Given the description of an element on the screen output the (x, y) to click on. 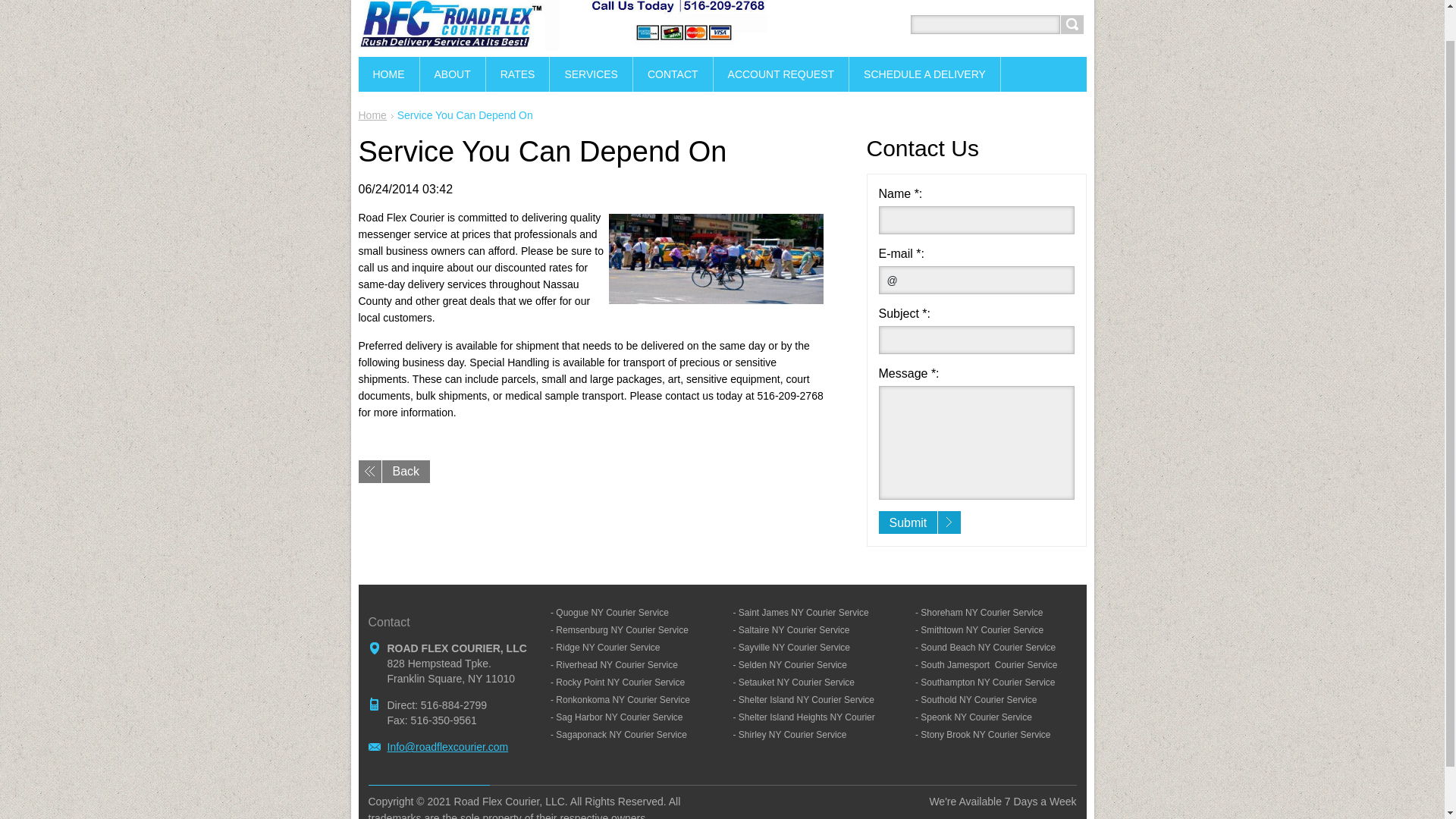
Back (393, 471)
SCHEDULE A DELIVERY (924, 73)
Home (371, 114)
ABOUT (453, 73)
ACCOUNT REQUEST (781, 73)
Search (1071, 24)
RATES (518, 73)
Search (1071, 24)
Submit (919, 522)
SERVICES (591, 73)
Go to Homepage. (562, 43)
CONTACT (673, 73)
HOME (388, 73)
